Given the description of an element on the screen output the (x, y) to click on. 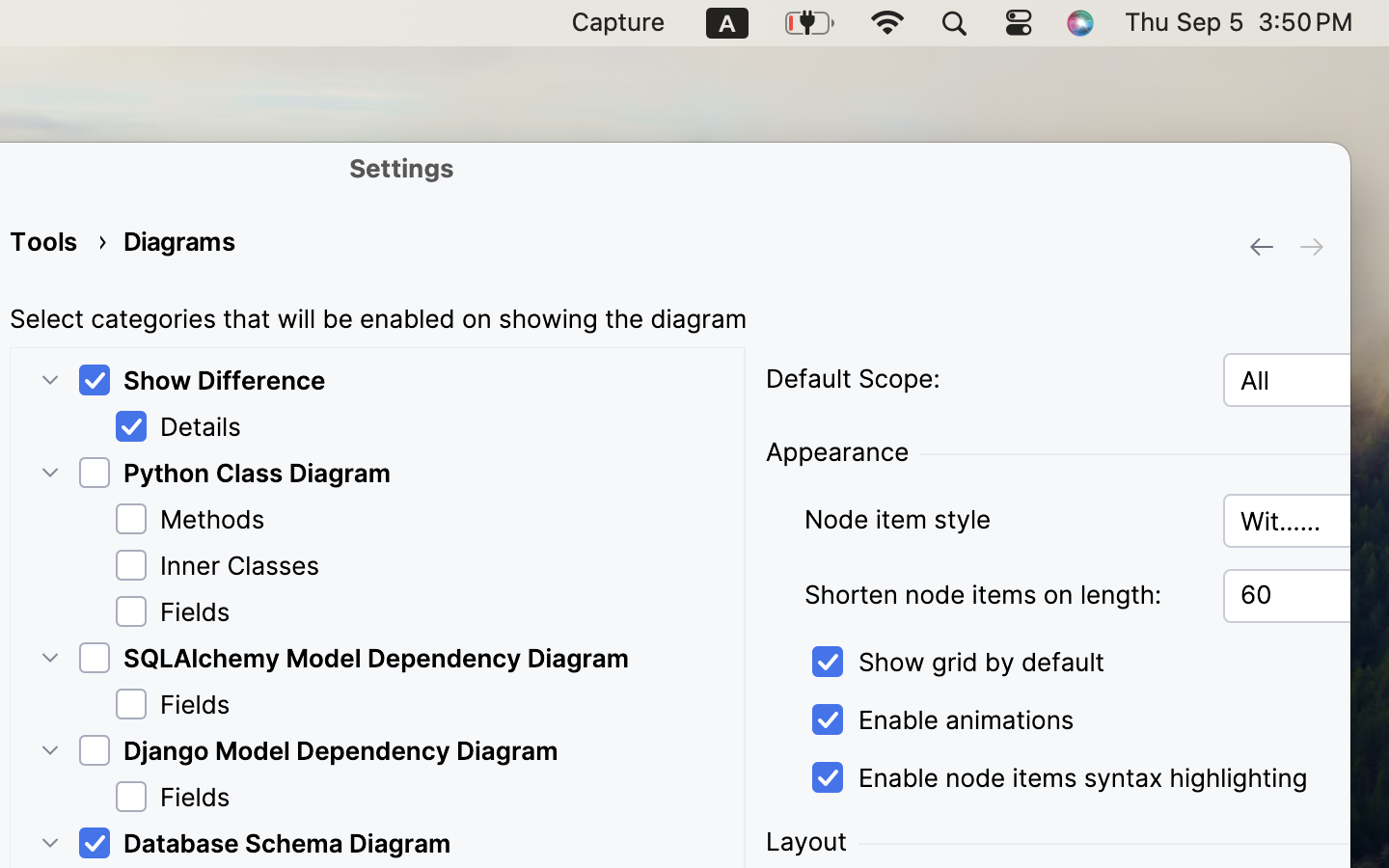
Node item style Element type: AXStaticText (1001, 519)
Select categories that will be enabled on showing the diagram Element type: AXStaticText (377, 318)
Shorten node items on length: Element type: AXStaticText (1001, 594)
